Given the description of an element on the screen output the (x, y) to click on. 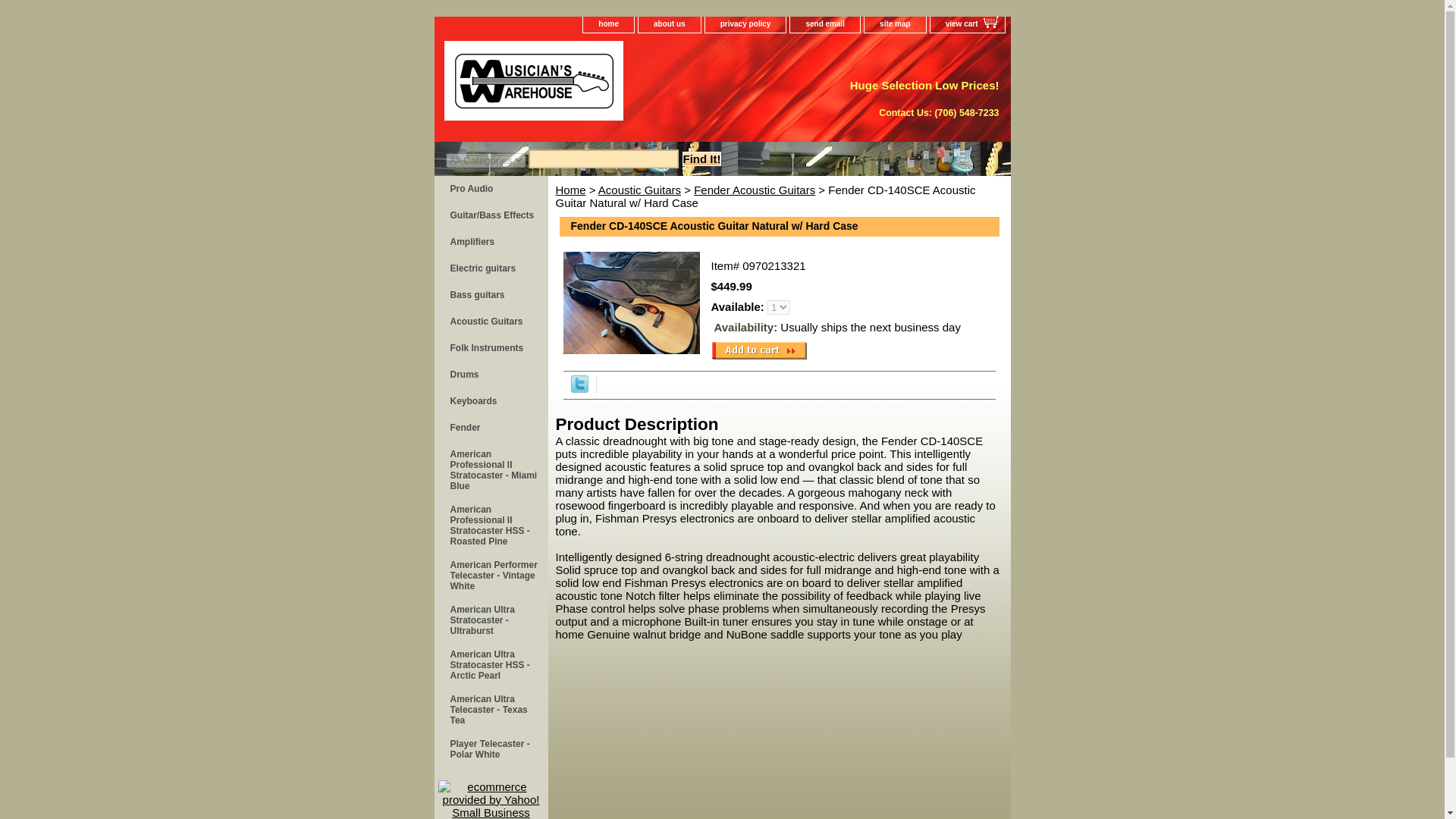
Folk Instruments (490, 347)
Drums (490, 374)
Fender (490, 427)
Fender (490, 427)
site map (895, 24)
American Professional II Stratocaster - Miami Blue (490, 468)
Acoustic Guitars (490, 321)
Acoustic Guitars (490, 321)
American Ultra Stratocaster HSS - Arctic Pearl (490, 663)
American Ultra Telecaster - Texas Tea (490, 708)
Fender Acoustic Guitars (754, 189)
Electric guitars (490, 268)
American Performer Telecaster - Vintage White (490, 574)
Home (569, 189)
Find It! (702, 158)
